Given the description of an element on the screen output the (x, y) to click on. 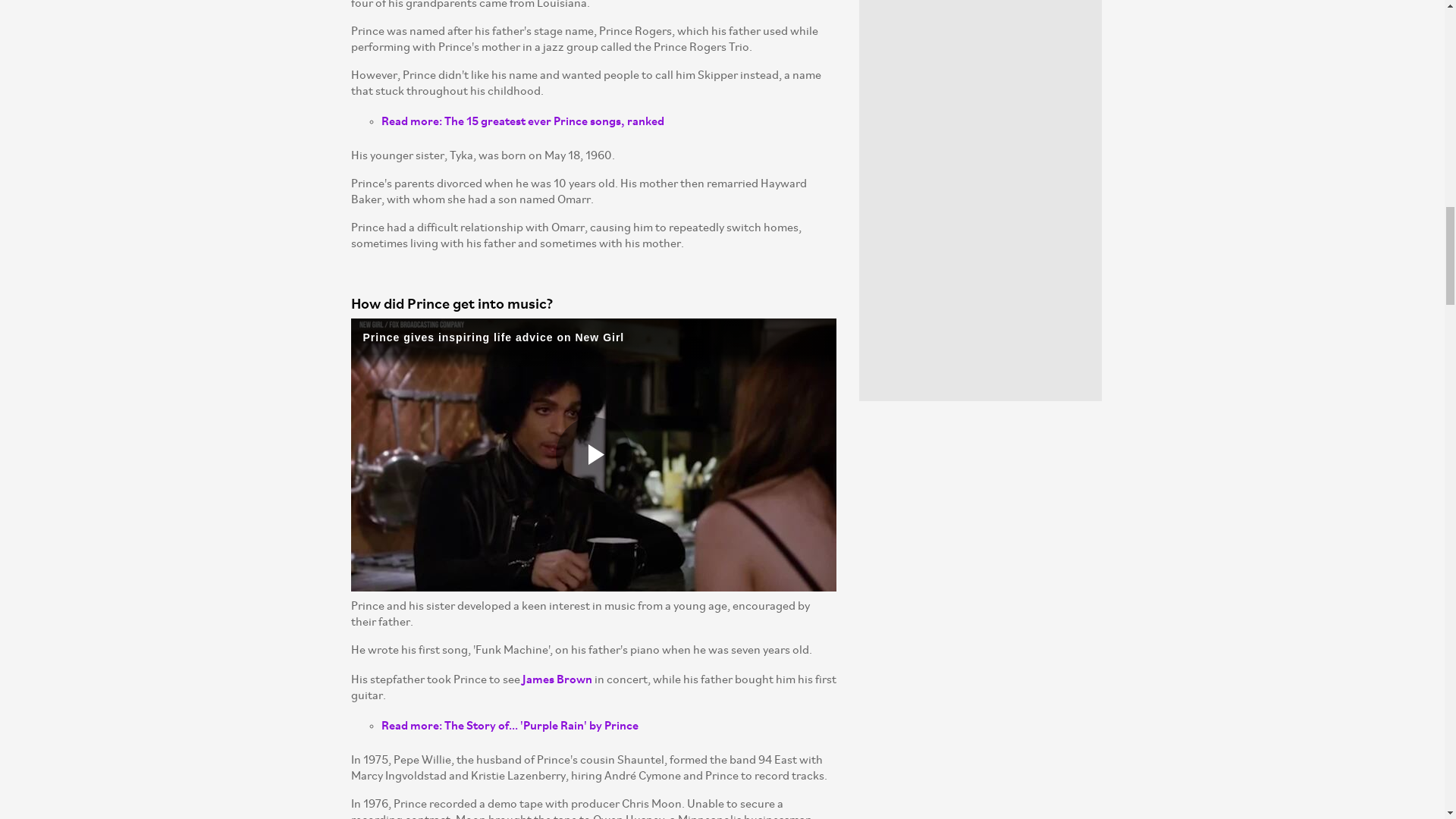
Read more: The 15 greatest ever Prince songs, ranked (521, 119)
